Given the description of an element on the screen output the (x, y) to click on. 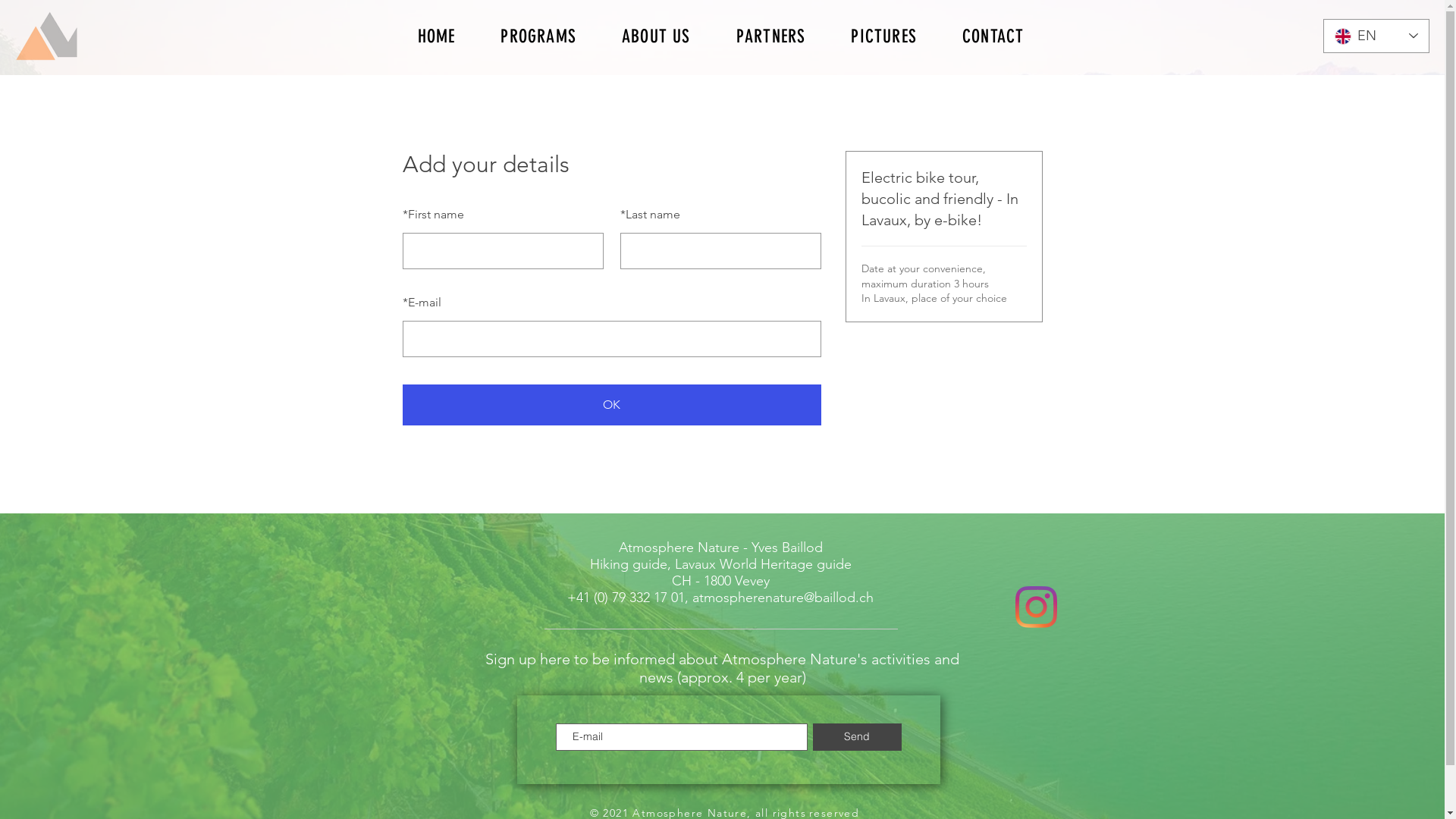
CONTACT Element type: text (992, 36)
Home Element type: hover (46, 35)
Send Element type: text (856, 736)
OK Element type: text (611, 404)
PARTNERS Element type: text (770, 36)
atmospherenature@baillod.ch Element type: text (782, 597)
HOME Element type: text (435, 36)
ABOUT US Element type: text (656, 36)
PICTURES Element type: text (883, 36)
